Given the description of an element on the screen output the (x, y) to click on. 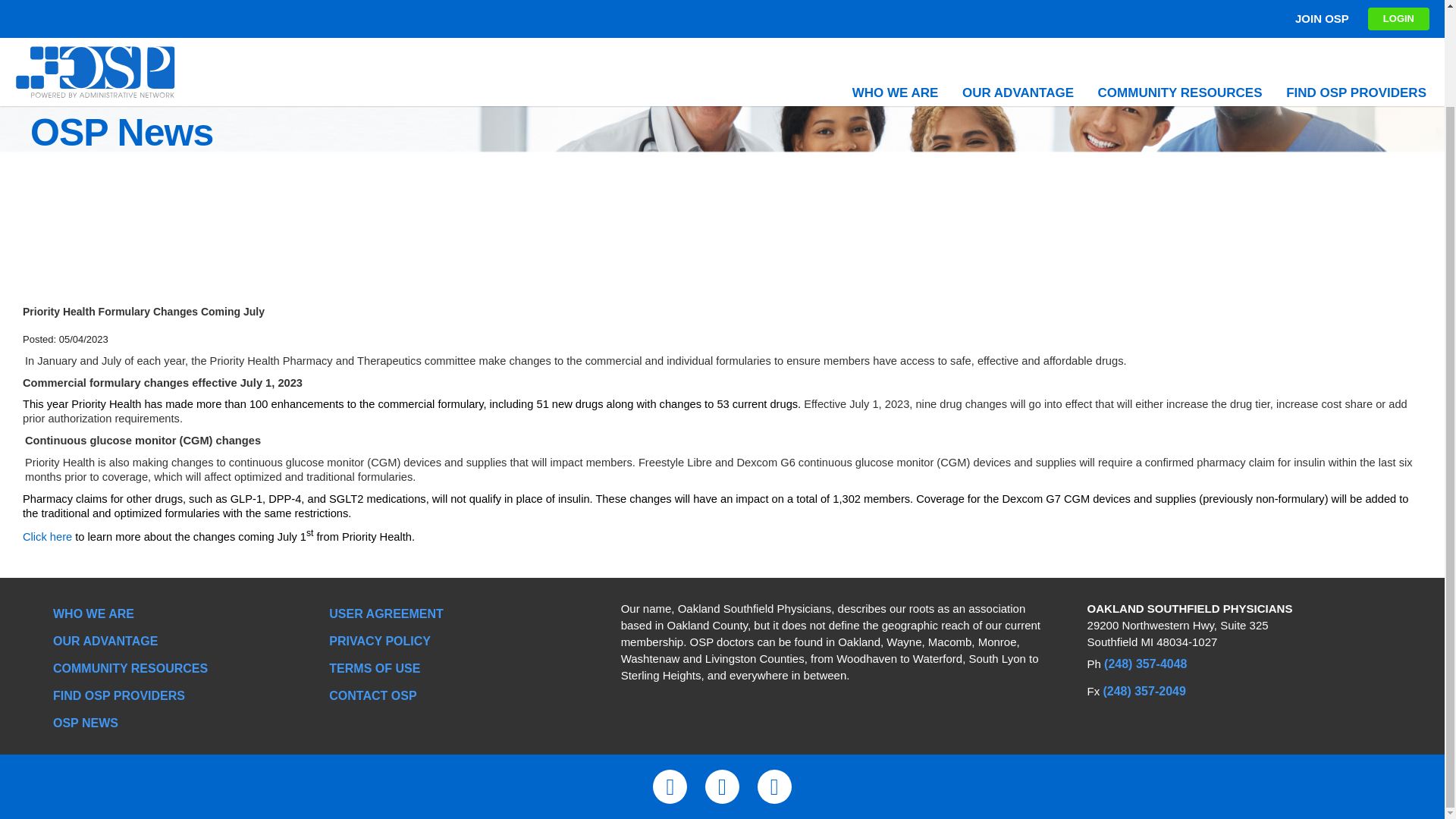
WHO WE ARE (92, 614)
CONTACT OSP (372, 695)
Click here (47, 536)
COMMUNITY RESOURCES (130, 668)
OUR ADVANTAGE (104, 641)
OSP NEWS (84, 723)
FIND OSP PROVIDERS (118, 695)
